Given the description of an element on the screen output the (x, y) to click on. 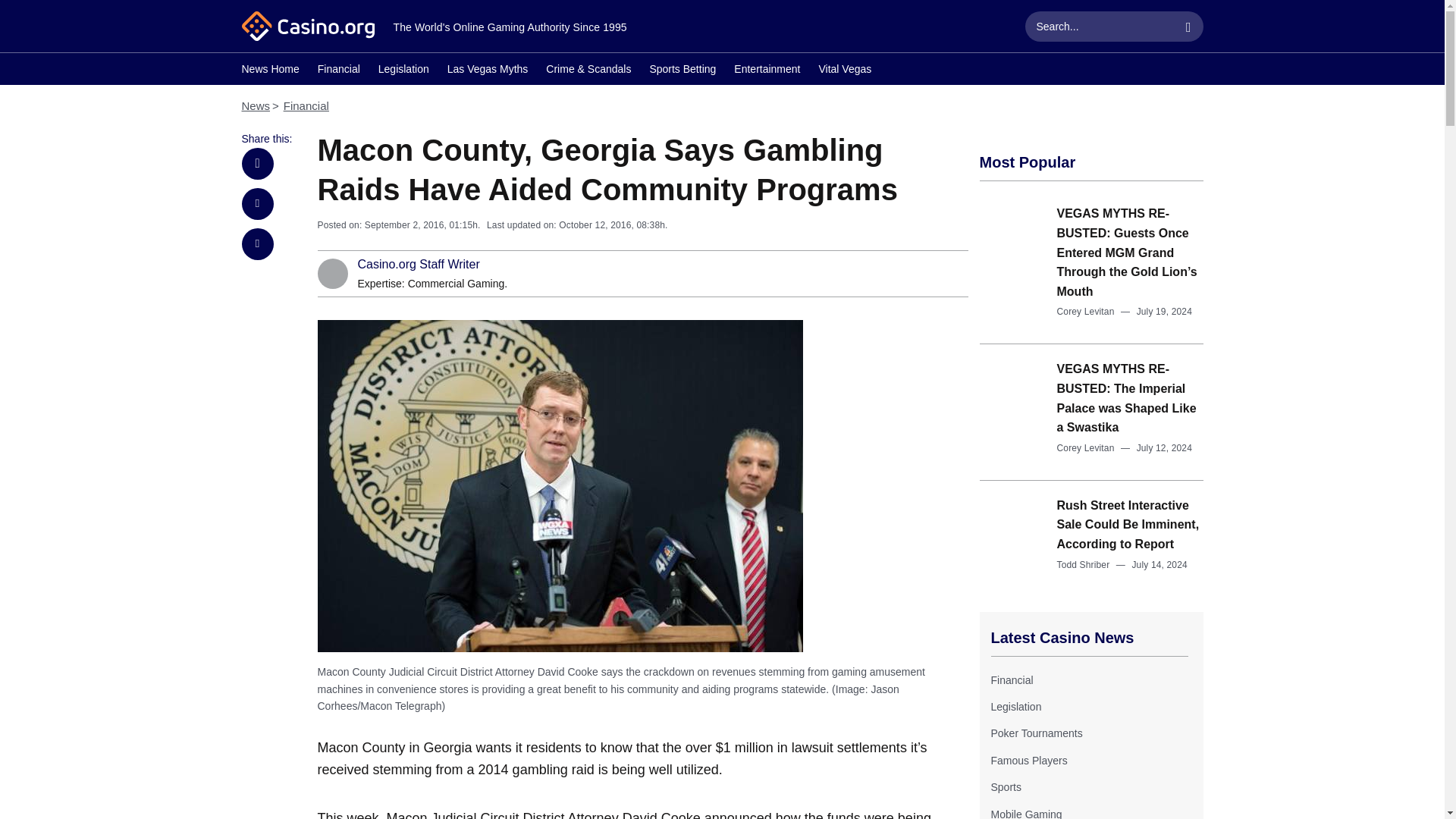
Legislation (1015, 706)
Financial (306, 105)
Todd Shriber (1083, 564)
Famous Players (1028, 760)
Legislation (403, 70)
Legislation (1015, 706)
Sports (1005, 787)
Sports Betting (682, 70)
Las Vegas Myths (487, 70)
Sports (1005, 787)
Commercial Gaming (456, 283)
Commercial Gaming (456, 283)
Casino.org Staff Writer (419, 264)
Entertainment (766, 70)
News Home (269, 70)
